Given the description of an element on the screen output the (x, y) to click on. 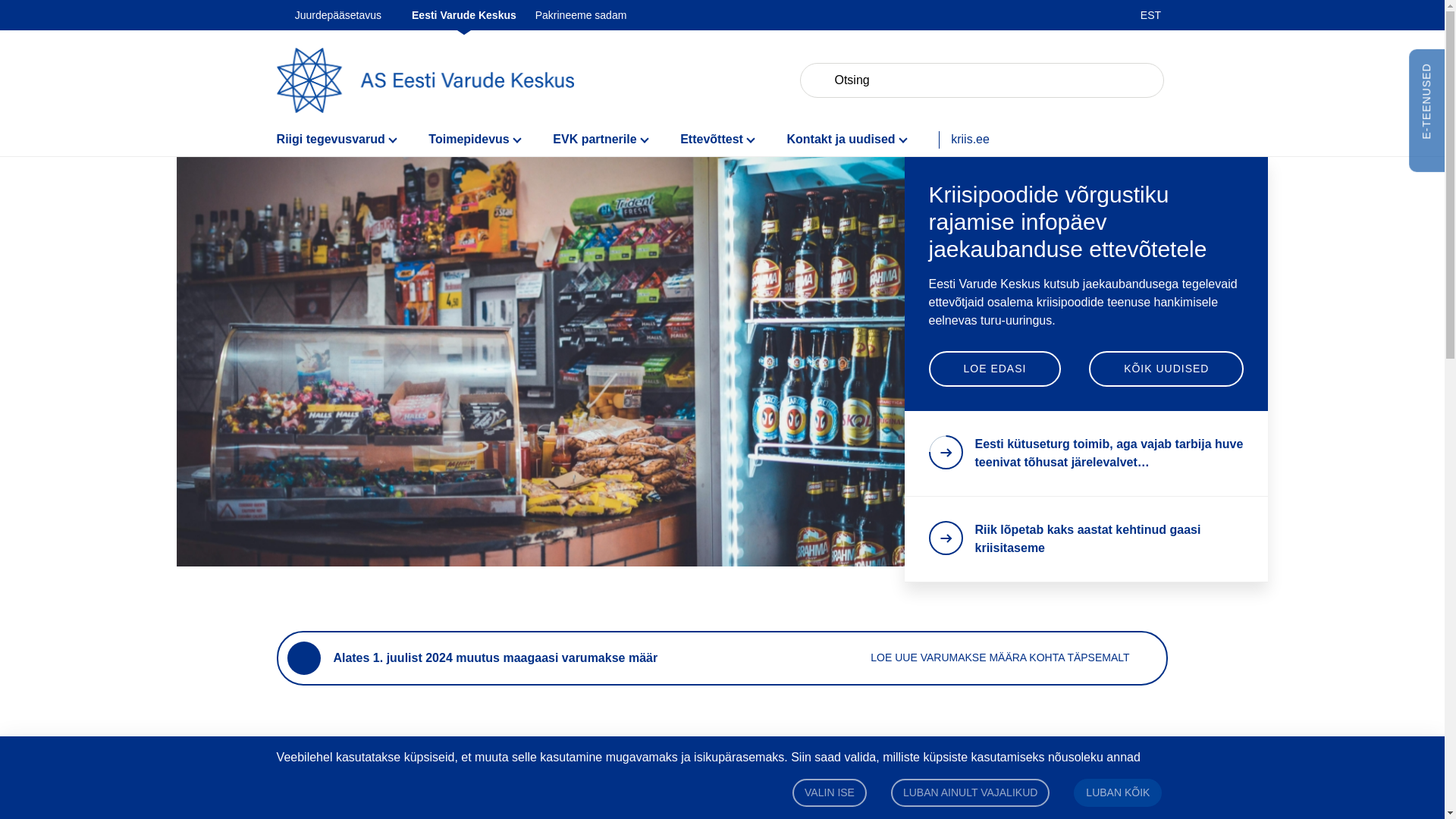
Avaleht (424, 80)
VALIN ISE (829, 792)
Riigi tegevusvarud (352, 139)
EST (1149, 15)
Pakrineeme sadam (580, 15)
LUBAN AINULT VAJALIKUD (970, 792)
Eesti Varude Keskus (464, 15)
